Given the description of an element on the screen output the (x, y) to click on. 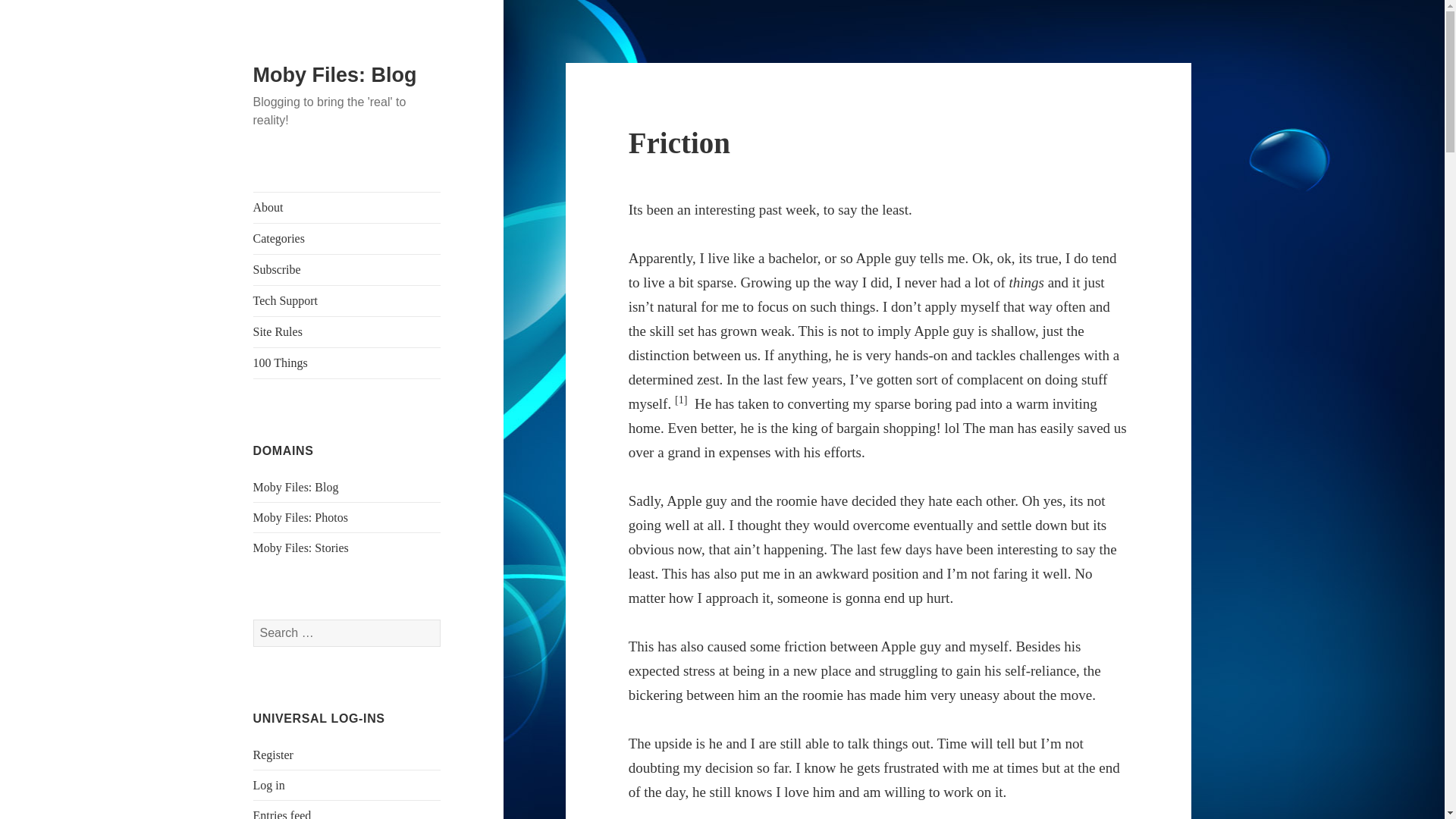
Register (273, 754)
Moby Files: Blog (296, 486)
100 Things (347, 363)
Log in (269, 784)
About (347, 207)
Site Rules (347, 331)
Stories from the vault (301, 547)
Life thru photos and social media (300, 517)
Tech Support (347, 300)
Moby Files: Stories (301, 547)
Categories (347, 238)
Moby Files: Blog (334, 74)
